Given the description of an element on the screen output the (x, y) to click on. 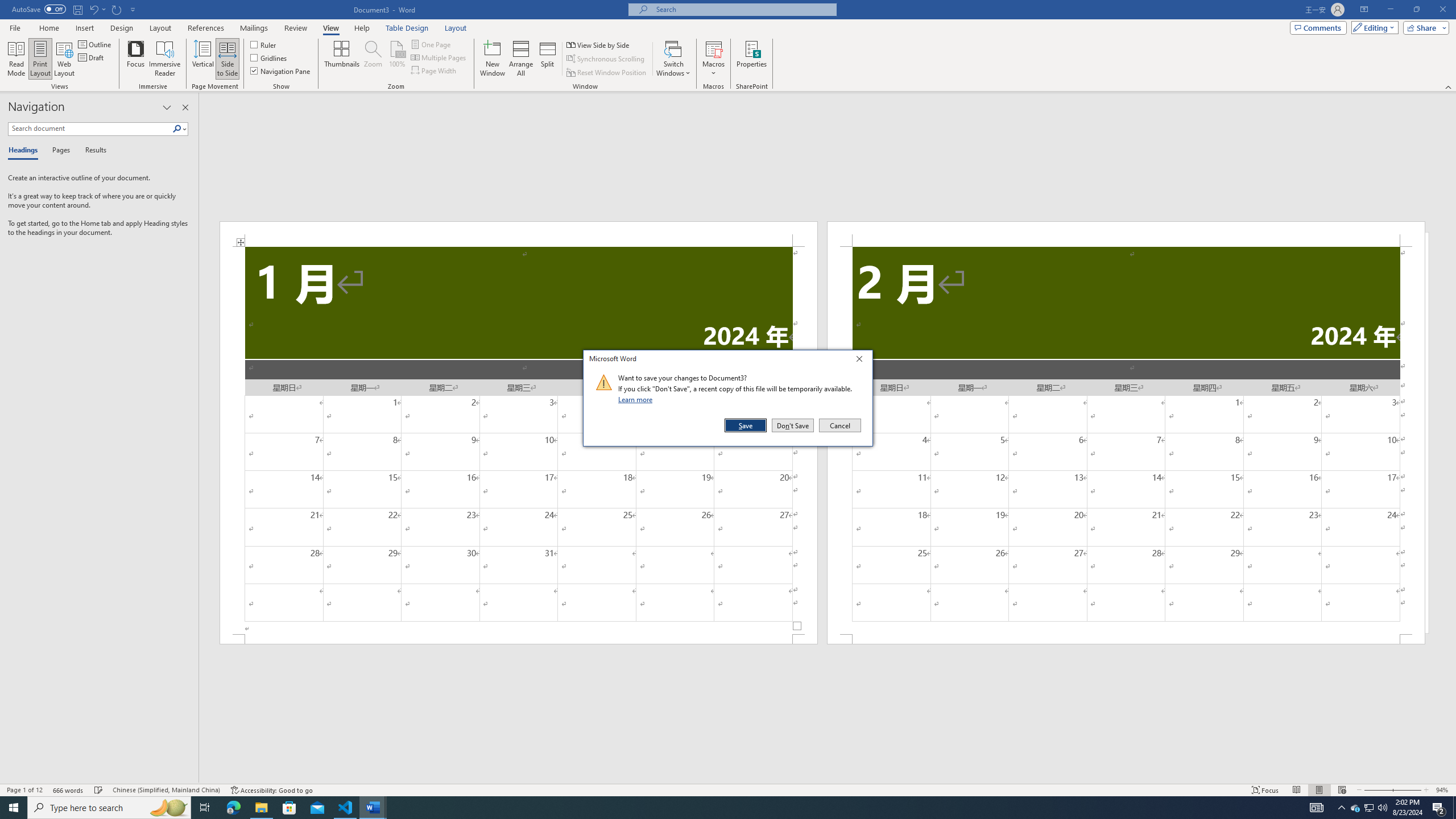
Page Width (434, 69)
Multiple Pages (439, 56)
Navigation Pane (281, 69)
Split (547, 58)
Draft (91, 56)
Ruler (263, 44)
